Given the description of an element on the screen output the (x, y) to click on. 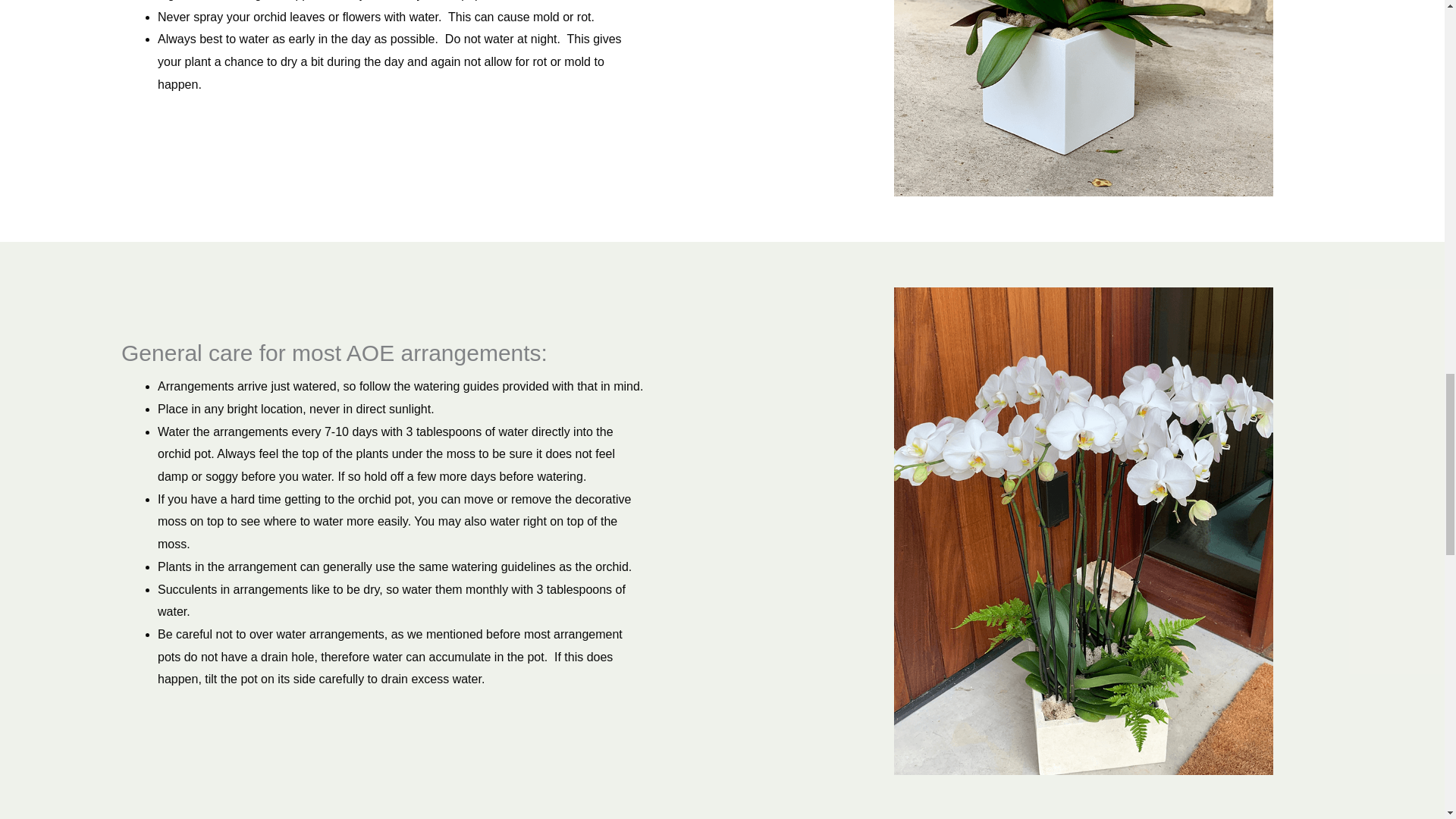
care1 (1082, 98)
